Given the description of an element on the screen output the (x, y) to click on. 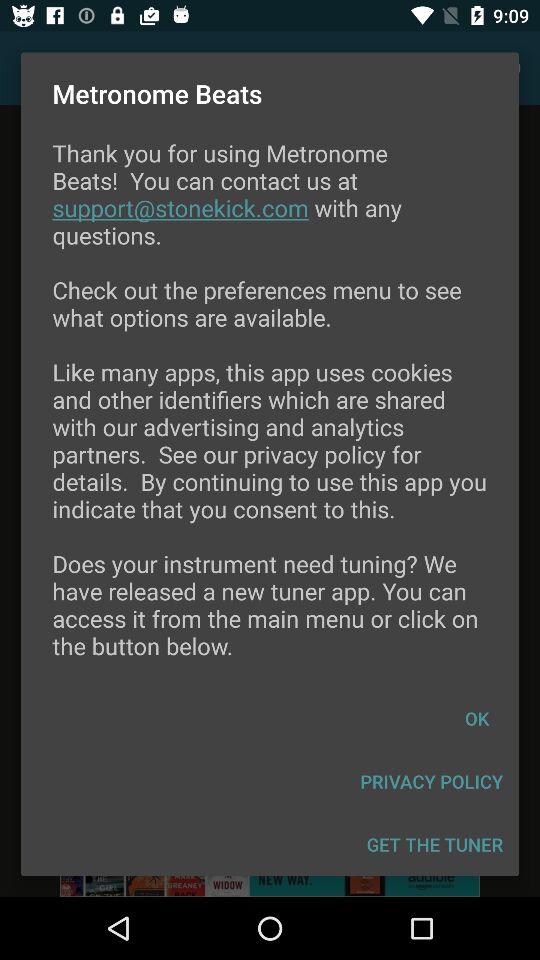
scroll until the thank you for (270, 411)
